Given the description of an element on the screen output the (x, y) to click on. 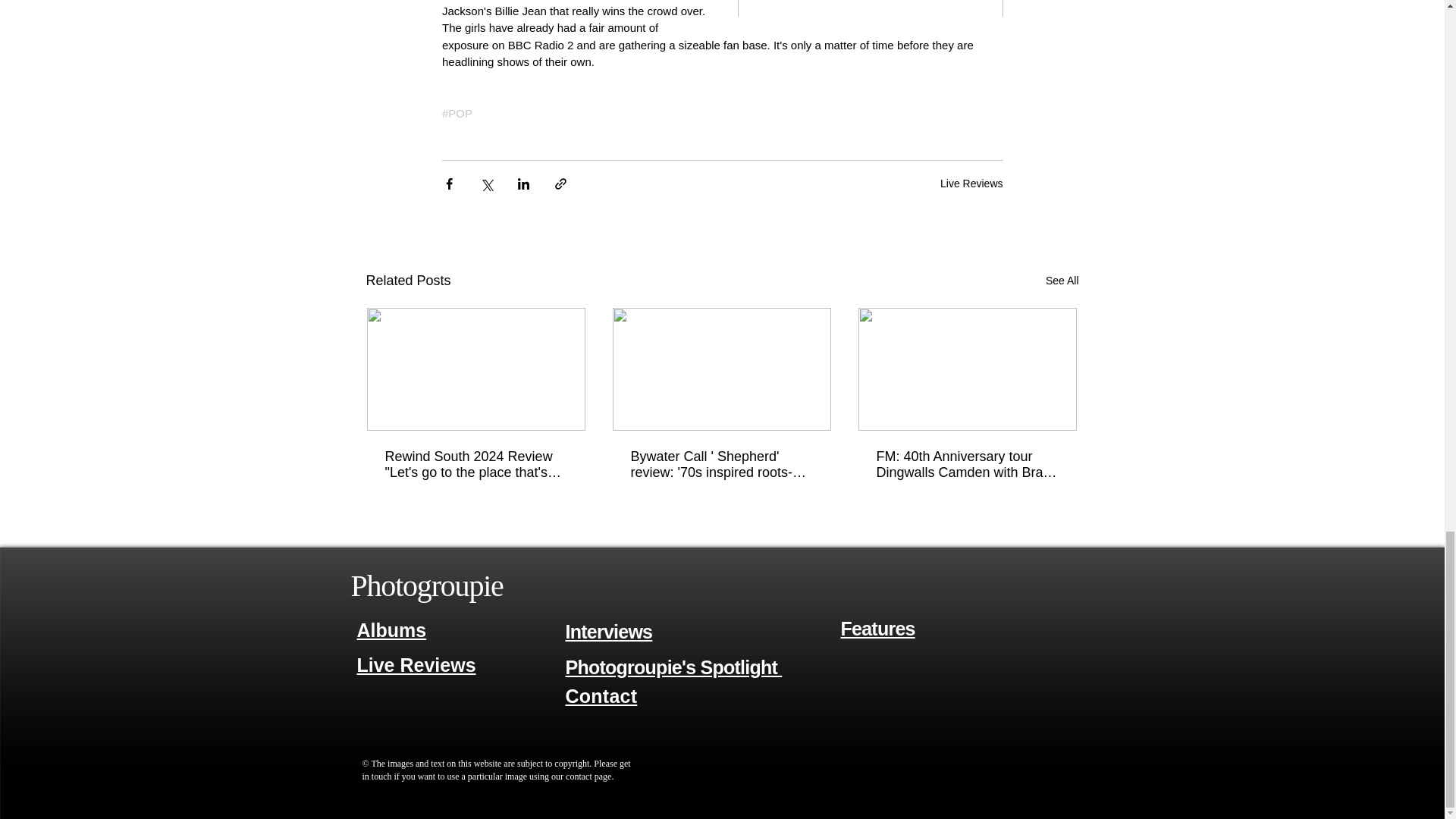
Live Reviews (971, 183)
FM: 40th Anniversary tour Dingwalls Camden with Brave Rival (967, 464)
Interviews (609, 631)
Photogroupie (426, 585)
Photogroupie's Spotlight  (674, 667)
Albums (391, 629)
Live Reviews (416, 665)
See All (1061, 280)
